Given the description of an element on the screen output the (x, y) to click on. 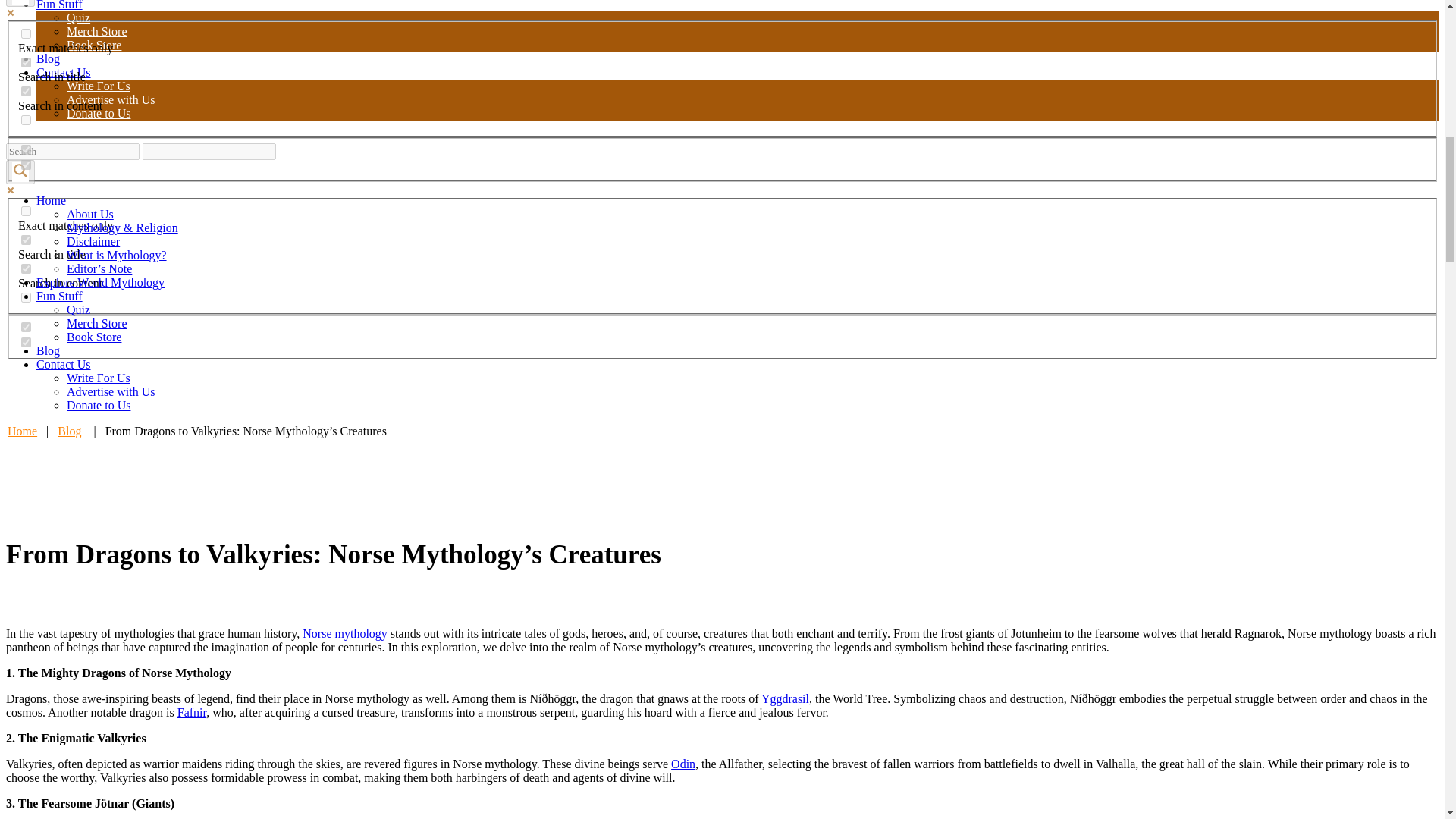
Fun Stuff (59, 5)
content (25, 268)
Merch Store (97, 31)
Advertise with Us (110, 99)
Quiz (78, 17)
Book Store (93, 44)
exact (25, 211)
page (25, 342)
Start search (285, 145)
Write For Us (98, 85)
exact (25, 33)
Contact Us (63, 72)
title (25, 62)
Donate to Us (98, 113)
Blog (47, 58)
